Given the description of an element on the screen output the (x, y) to click on. 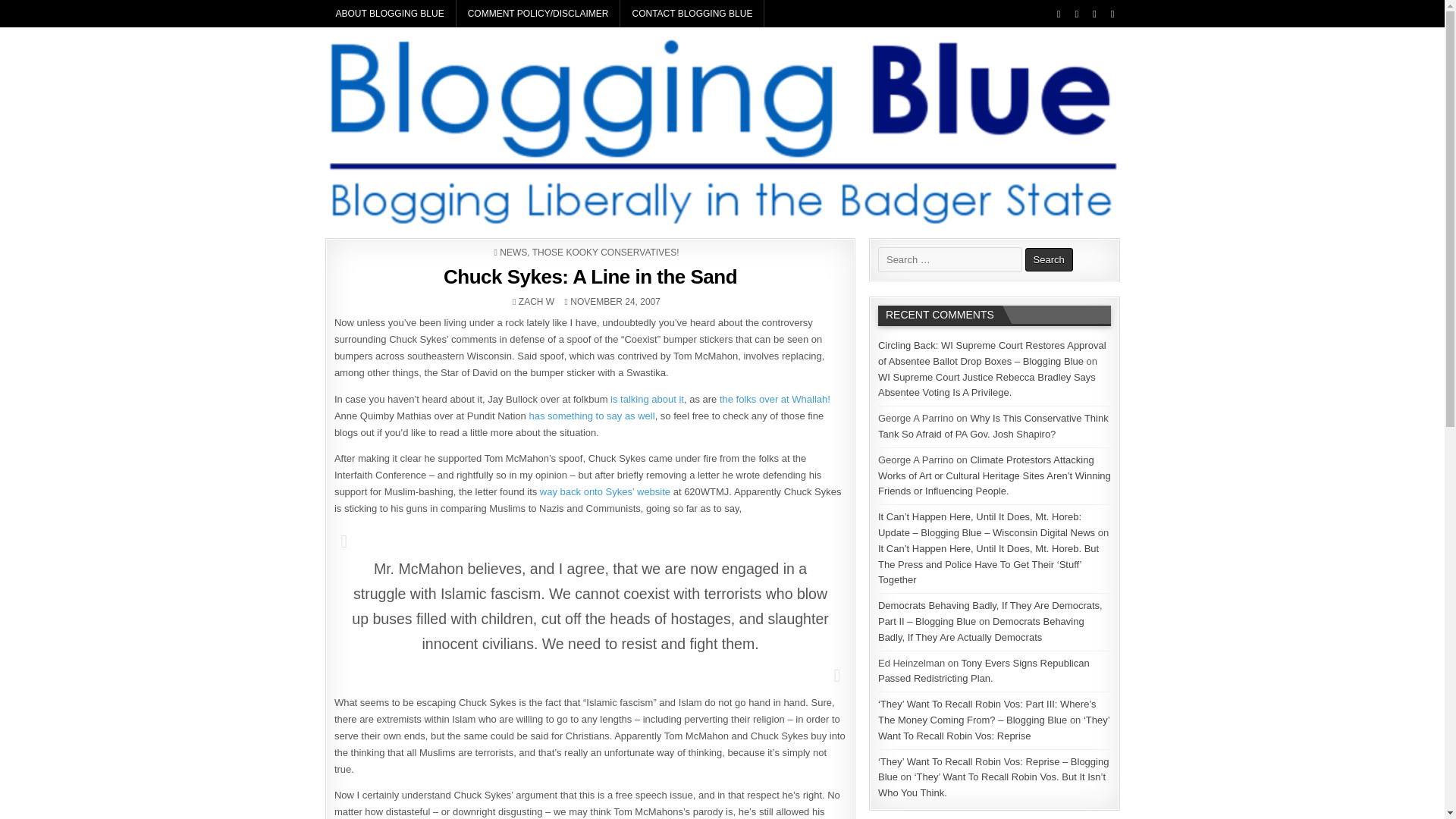
ABOUT BLOGGING BLUE (390, 13)
CONTACT BLOGGING BLUE (692, 13)
is talking about it (647, 398)
Twitter (1058, 13)
NEWS (513, 252)
has something to say as well (590, 415)
Search (1049, 259)
Youtube (1094, 13)
Chuck Sykes: A Line in the Sand (590, 276)
Search (1049, 259)
